Given the description of an element on the screen output the (x, y) to click on. 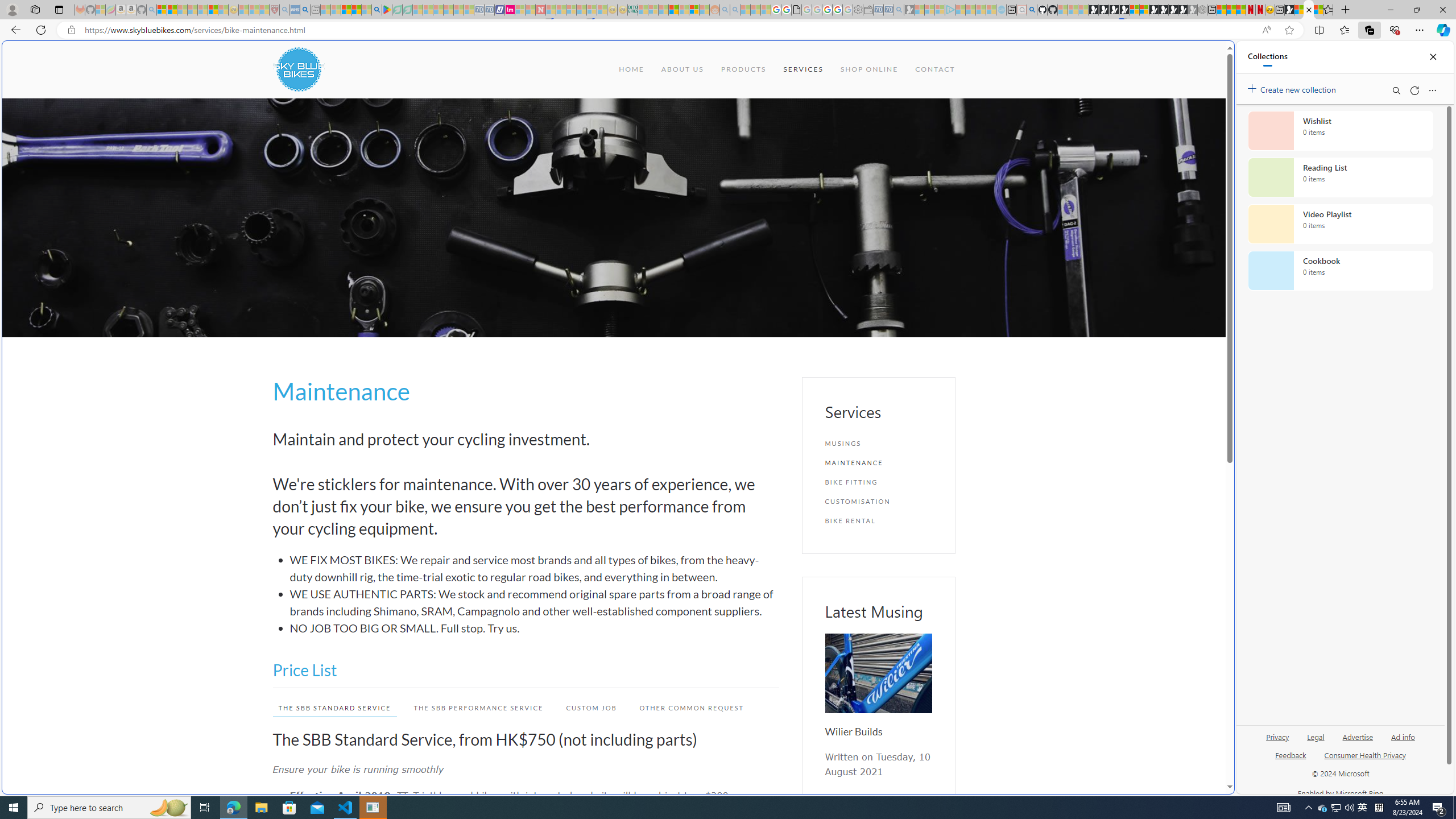
BIKE FITTING (878, 481)
CUSTOM JOB (591, 707)
github - Search (1032, 9)
Settings - Sleeping (857, 9)
Close split screen (1208, 57)
